Given the description of an element on the screen output the (x, y) to click on. 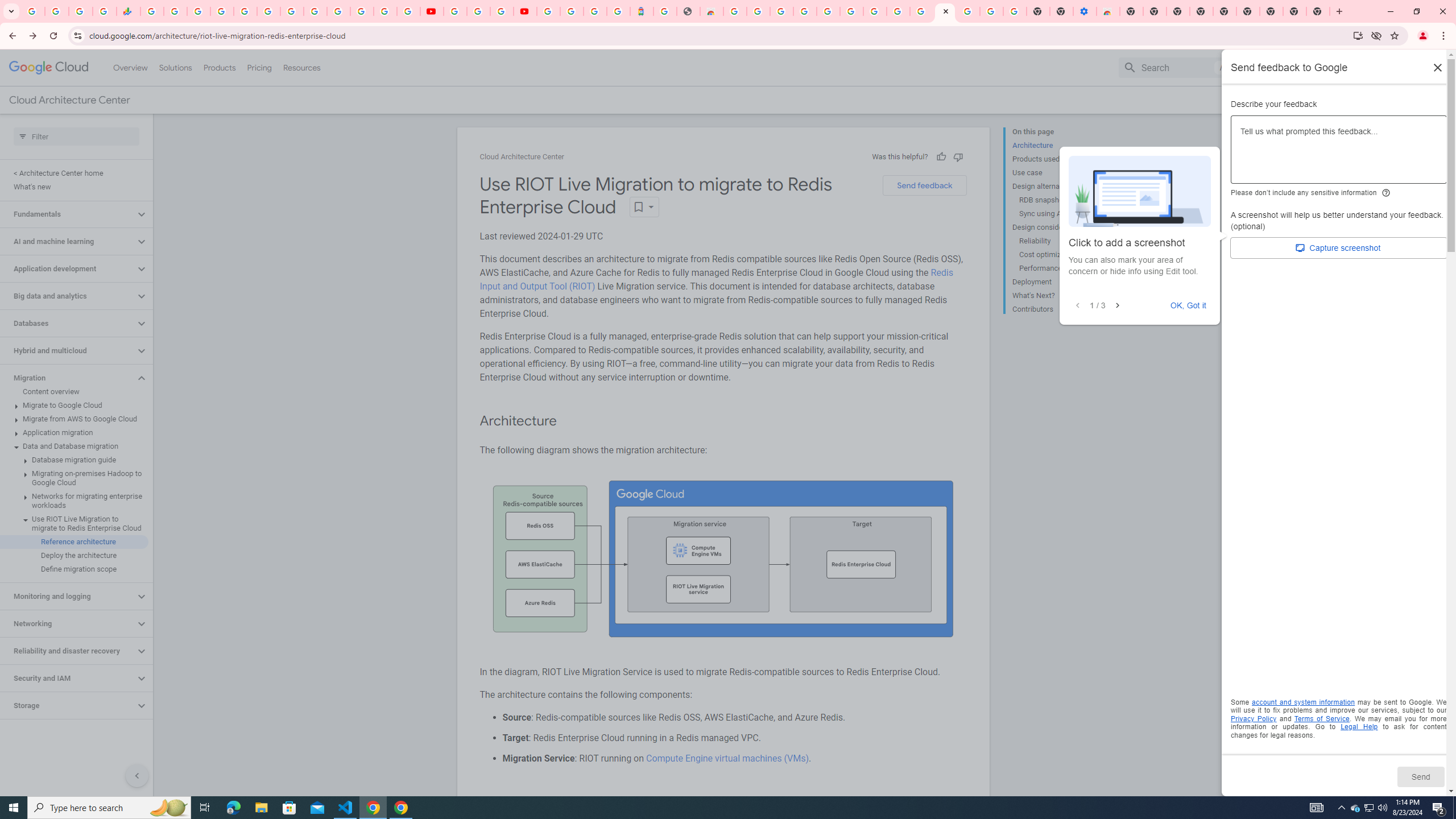
Migrate to Google Cloud (74, 404)
Privacy Checkup (408, 11)
Send (1420, 776)
Send feedback (924, 185)
Cloud Architecture Center (521, 156)
Reference architecture (74, 541)
Opens in a new tab. Terms of Service (1321, 718)
Sign in - Google Accounts (827, 11)
YouTube (314, 11)
New Tab (1131, 11)
Chrome Web Store - Accessibility extensions (1108, 11)
YouTube (431, 11)
Content overview (74, 391)
